Given the description of an element on the screen output the (x, y) to click on. 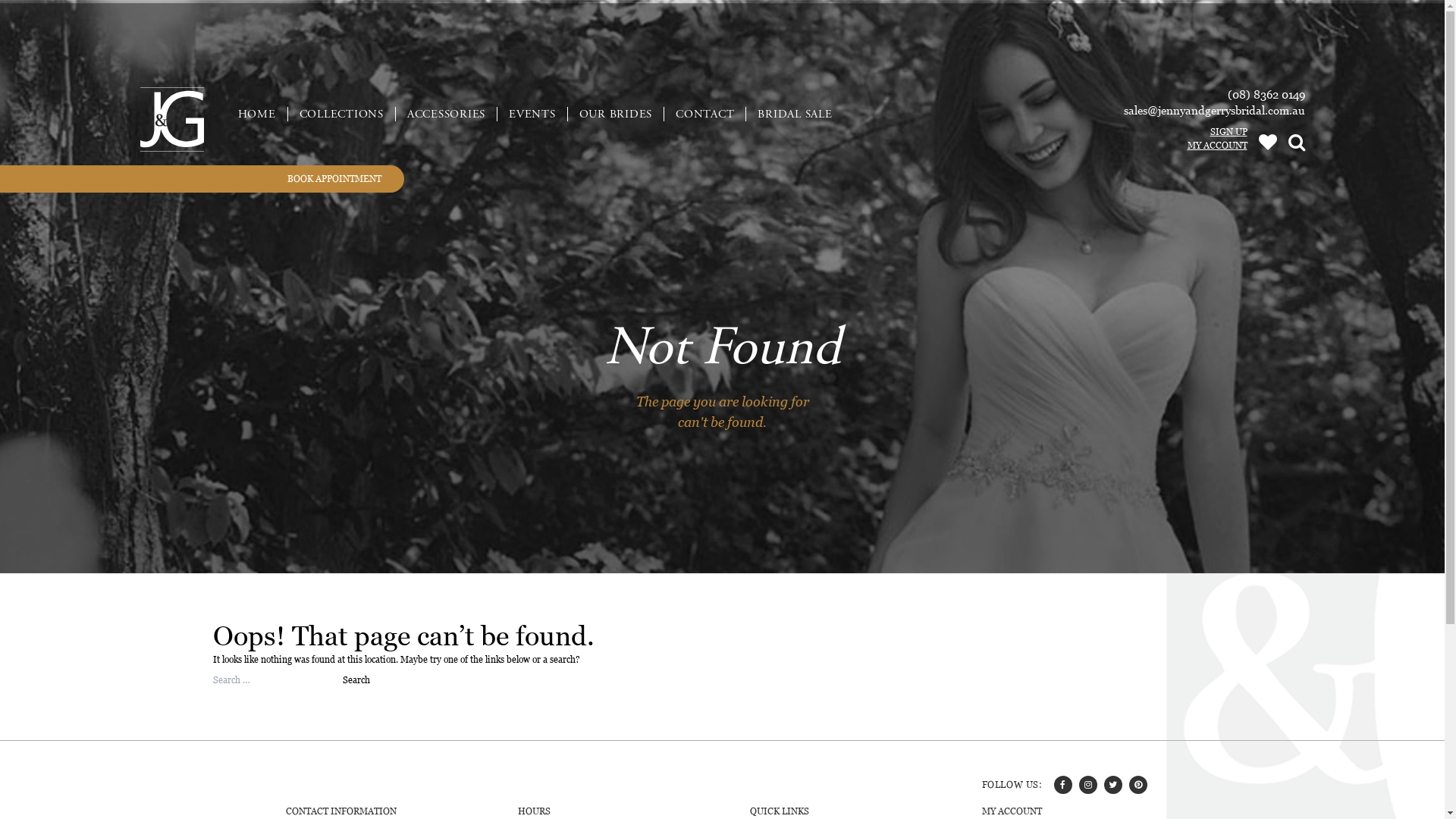
BOOK APPOINTMENT Element type: text (202, 178)
Search Element type: text (356, 680)
SIGN UP Element type: text (1215, 131)
sales@jennyandgerrysbridal.com.au Element type: text (1214, 109)
ACCESSORIES Element type: text (446, 113)
CONTACT Element type: text (705, 113)
EVENTS Element type: text (532, 113)
BRIDAL SALE Element type: text (794, 113)
HOME Element type: text (256, 113)
OUR BRIDES Element type: text (615, 113)
(08) 8362 0149 Element type: text (1265, 93)
MY ACCOUNT Element type: text (1215, 145)
COLLECTIONS Element type: text (341, 113)
